Given the description of an element on the screen output the (x, y) to click on. 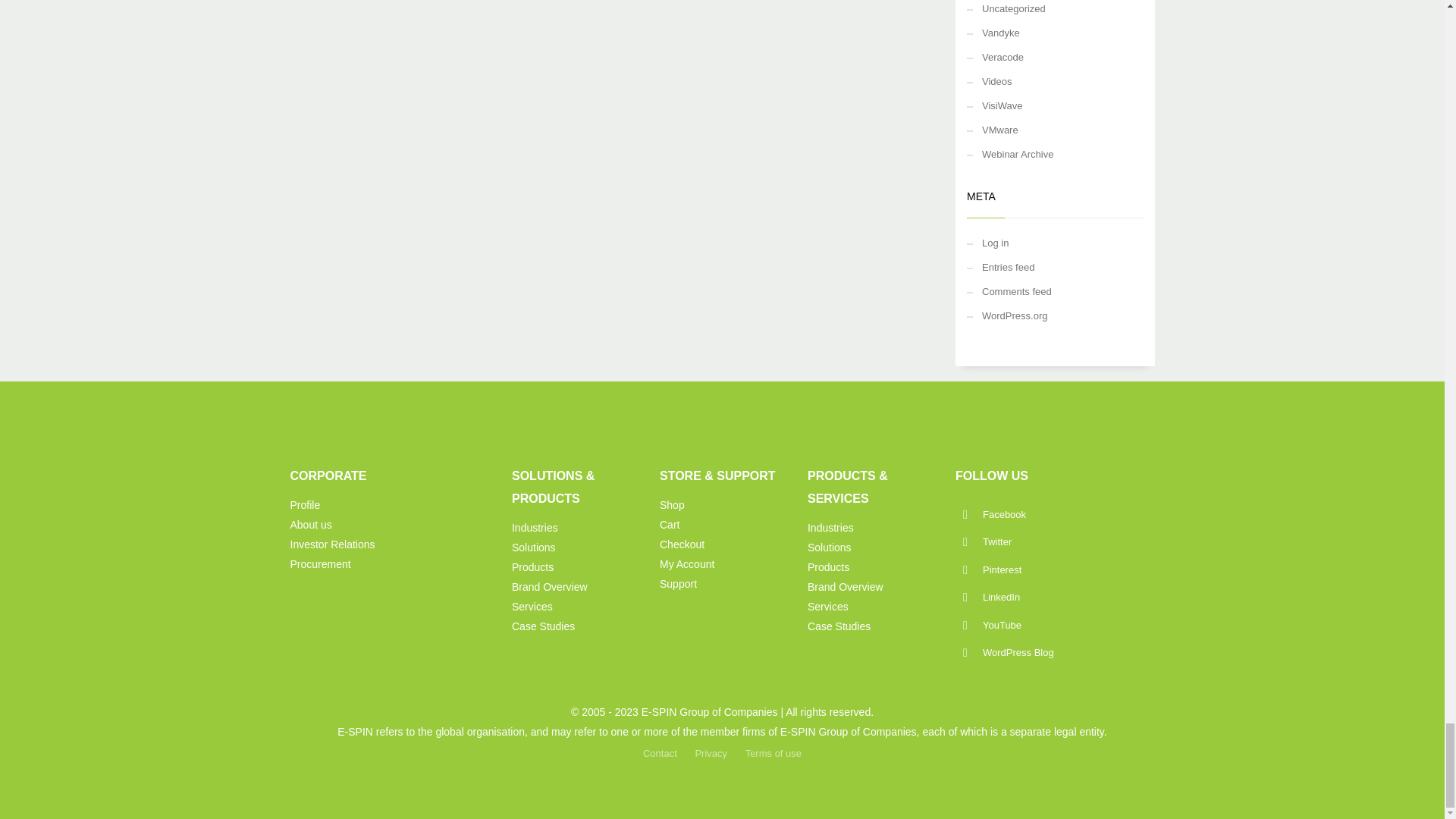
Contact Privacy Terms of use (721, 753)
